Given the description of an element on the screen output the (x, y) to click on. 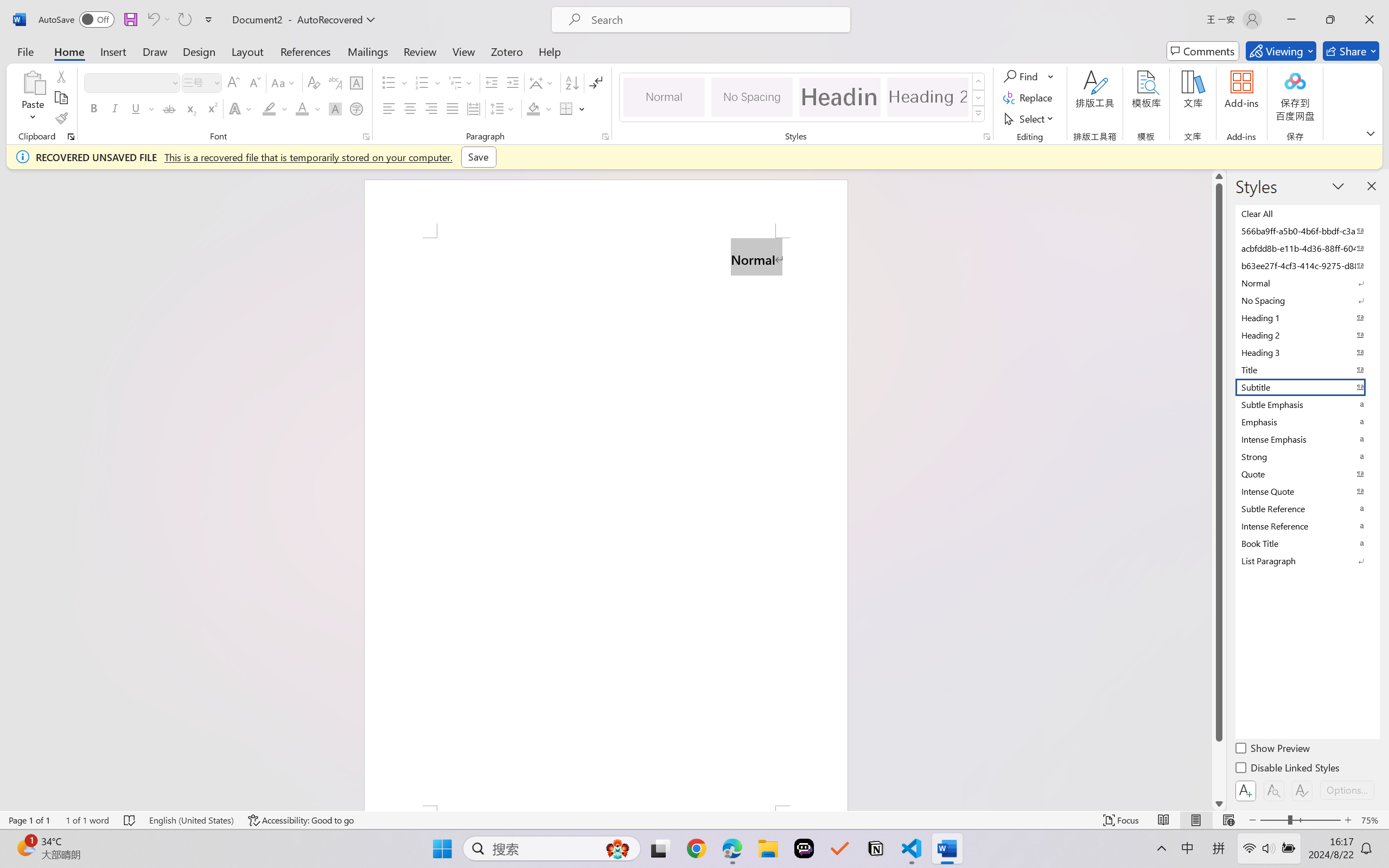
Shading (539, 108)
Subscript (190, 108)
Task Pane Options (1338, 185)
Heading 1 (839, 96)
Enclose Characters... (356, 108)
Show/Hide Editing Marks (595, 82)
Normal (1306, 282)
Class: NetUIButton (1301, 790)
Intense Emphasis (1306, 438)
Sort... (571, 82)
